Given the description of an element on the screen output the (x, y) to click on. 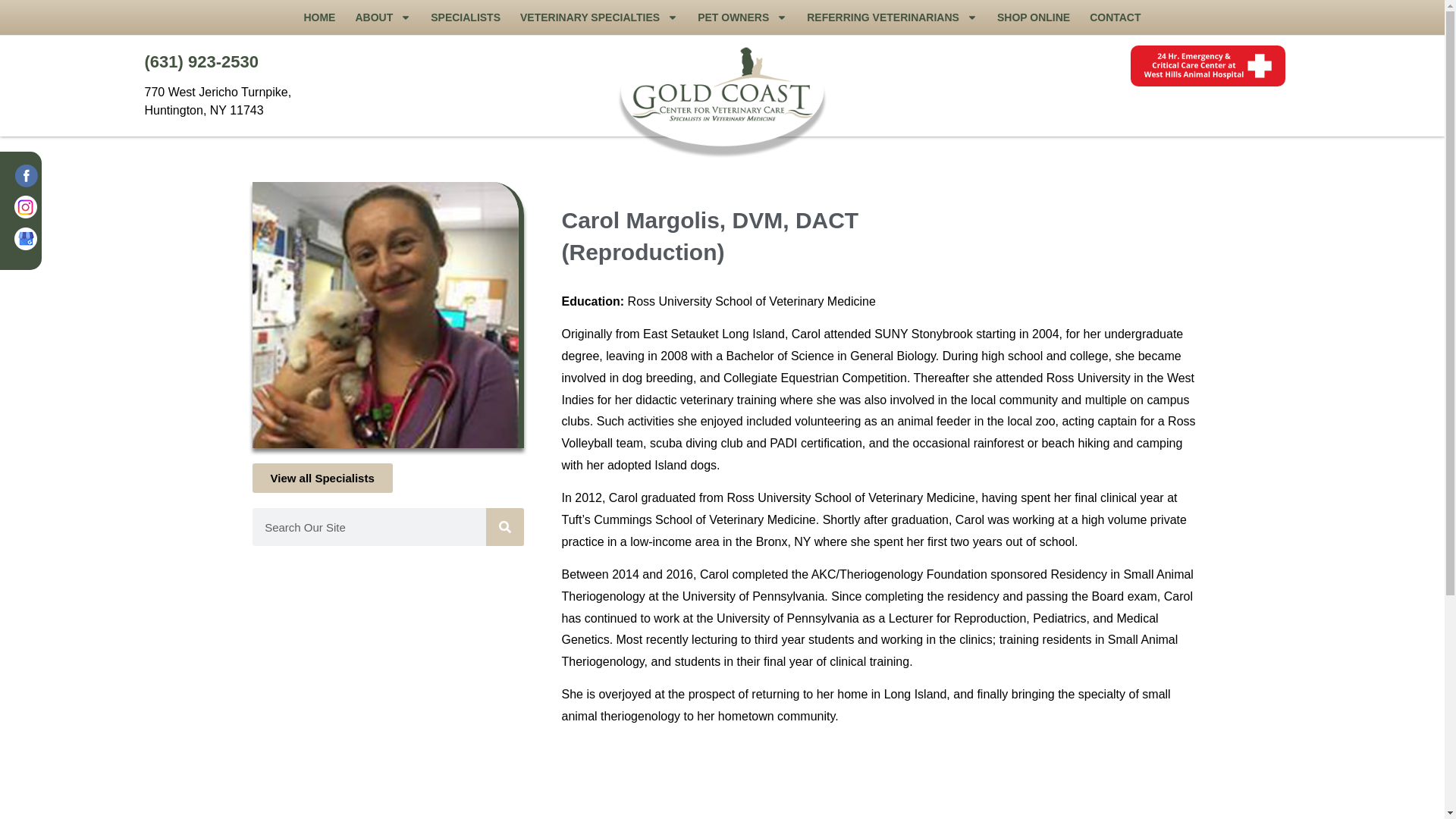
Gold Coast Center for Veterinary Care is on Instagram (27, 210)
Gold Coast Center for Veterinary Care is on Facebook (27, 178)
SHOP ONLINE (1033, 17)
VETERINARY SPECIALTIES (599, 17)
ABOUT (382, 17)
HOME (319, 17)
REFERRING VETERINARIANS (891, 17)
CONTACT (1115, 17)
SPECIALISTS (465, 17)
PET OWNERS (741, 17)
24hr Emergency and Critical Care Center for pets (1206, 65)
Specialty Veterinary Care in Long Island NY (721, 97)
